Given the description of an element on the screen output the (x, y) to click on. 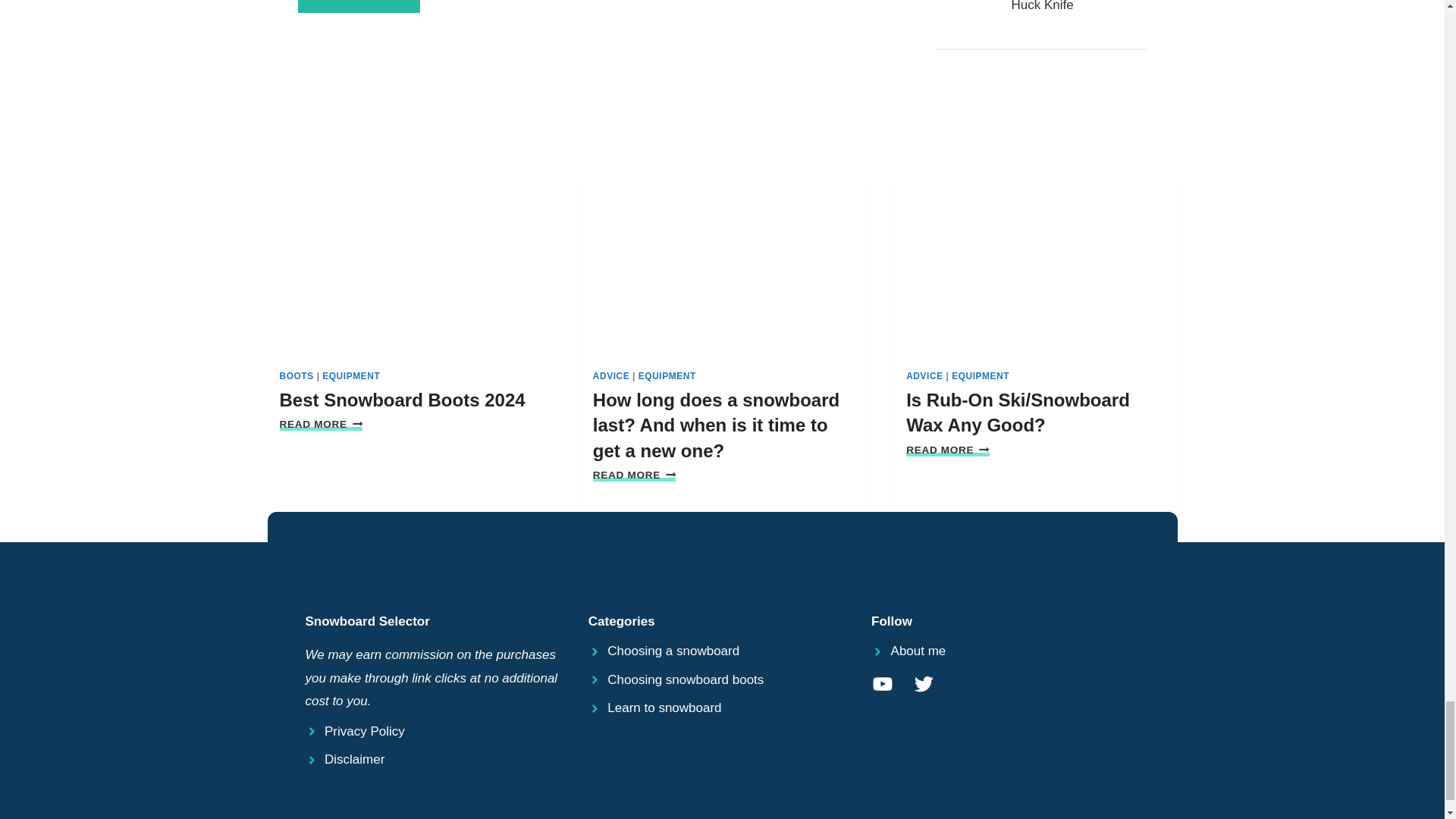
Post Comment (358, 6)
